Given the description of an element on the screen output the (x, y) to click on. 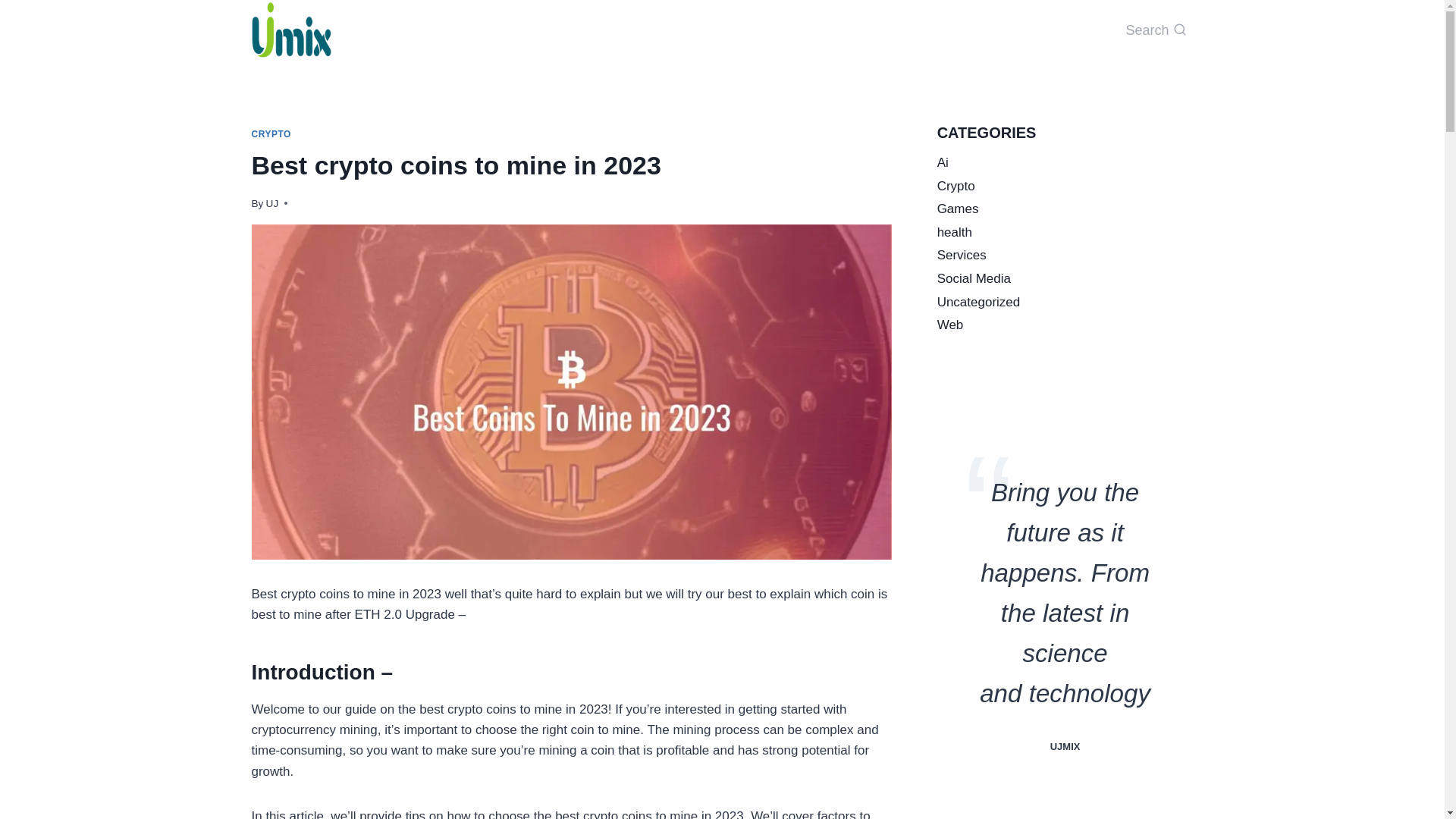
CRYPTO (271, 133)
UJ (272, 203)
Search (1155, 30)
